Given the description of an element on the screen output the (x, y) to click on. 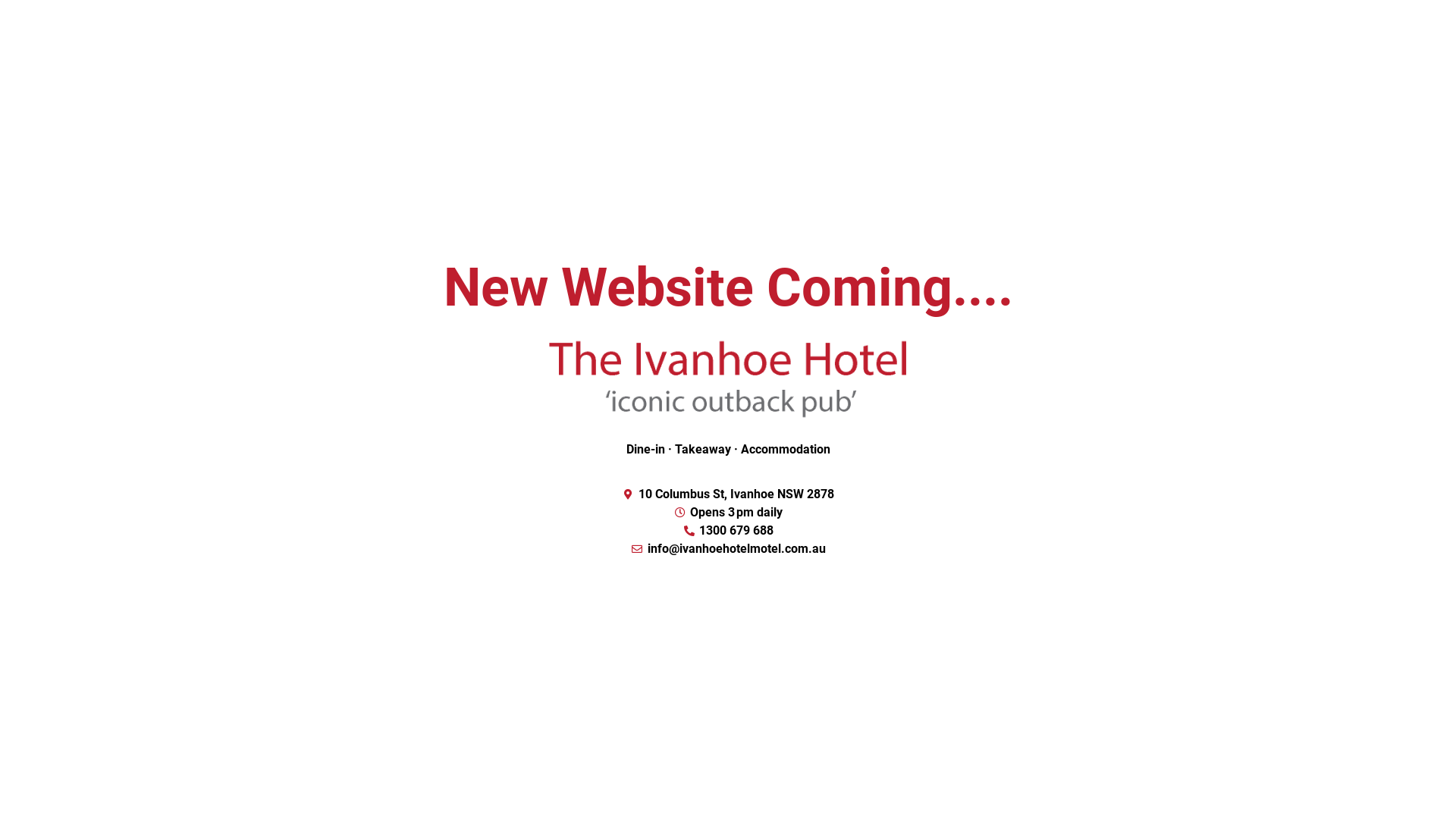
1300 679 688 Element type: text (727, 530)
info@ivanhoehotelmotel.com.au Element type: text (727, 548)
